Given the description of an element on the screen output the (x, y) to click on. 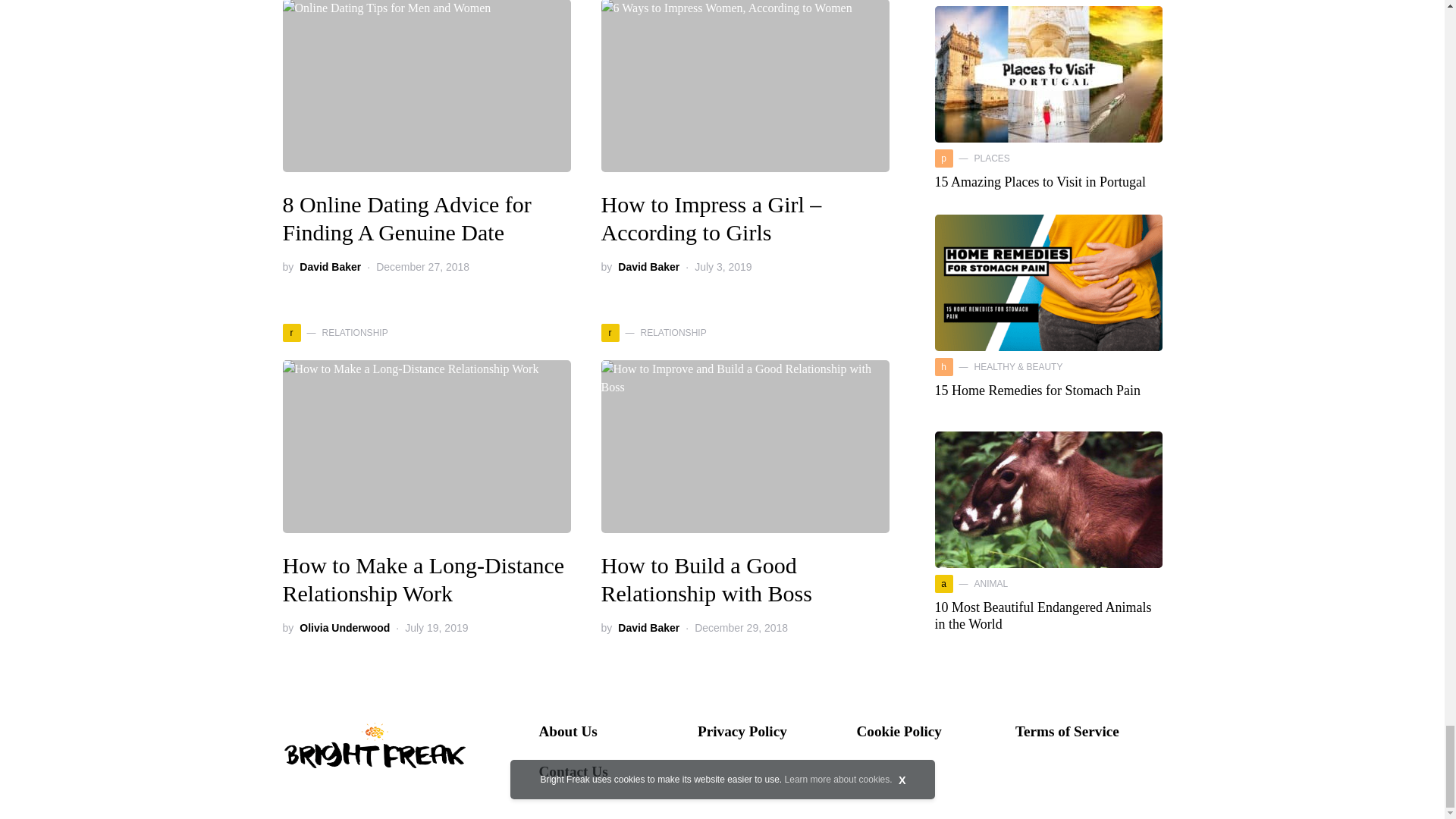
View all posts by David Baker (648, 627)
View all posts by Olivia Underwood (344, 627)
View all posts by David Baker (330, 267)
View all posts by David Baker (648, 267)
